Given the description of an element on the screen output the (x, y) to click on. 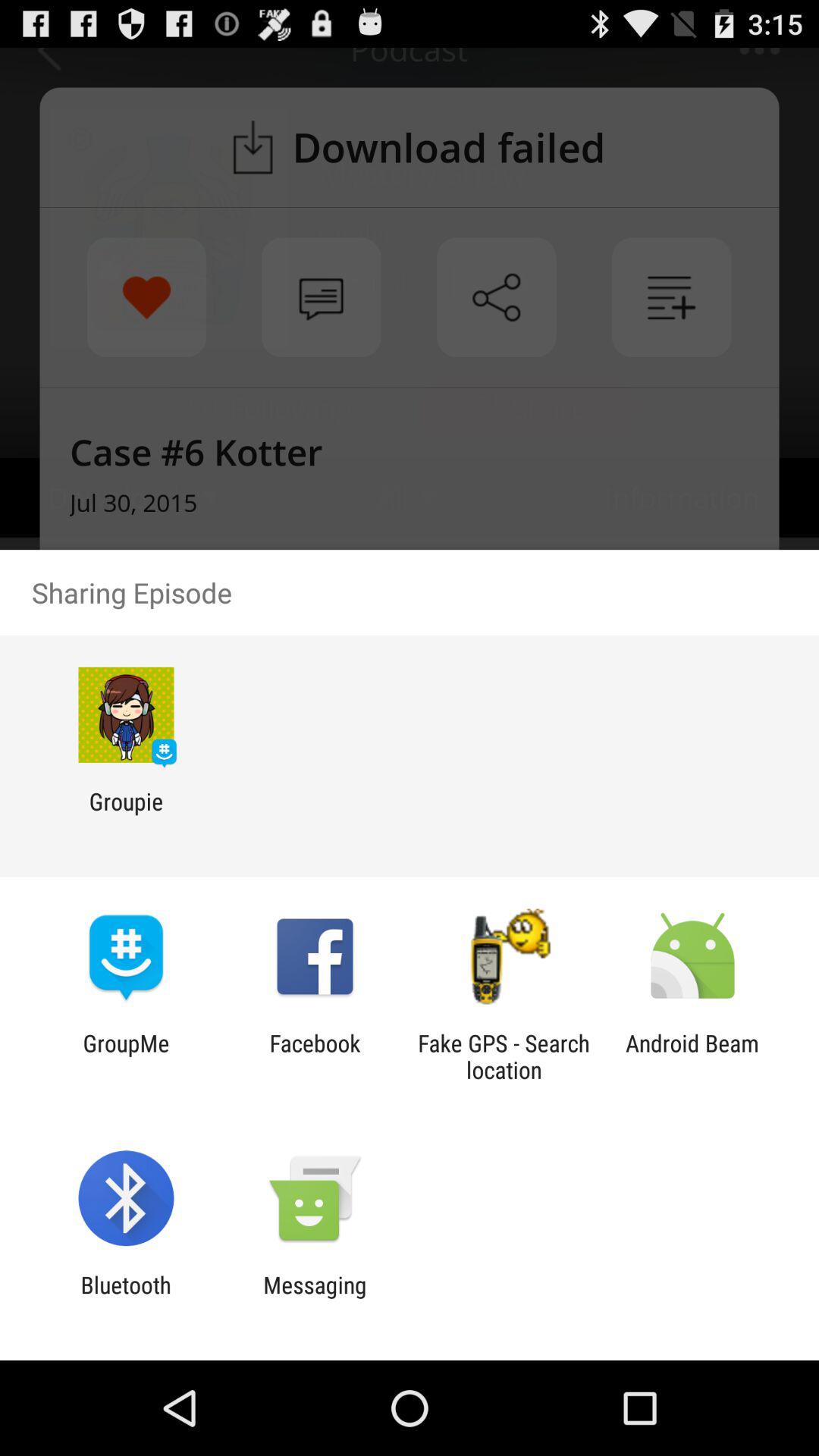
turn on icon to the left of android beam icon (503, 1056)
